Given the description of an element on the screen output the (x, y) to click on. 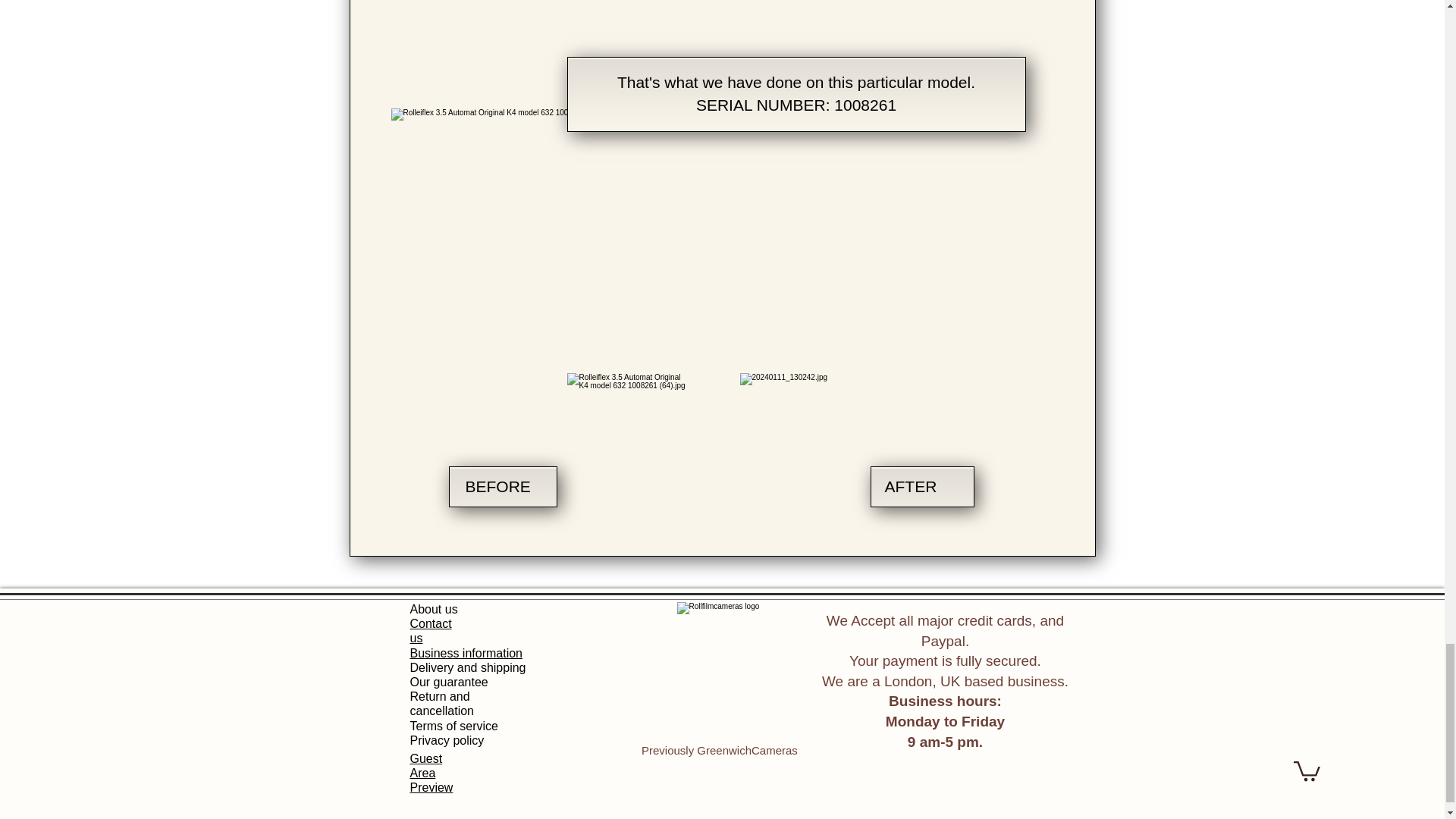
Delivery and shipping (467, 667)
Business information (465, 653)
Contact us (430, 630)
Return and cancellation (441, 703)
Terms of service (453, 725)
About us (433, 608)
Our guarantee (448, 681)
